Given the description of an element on the screen output the (x, y) to click on. 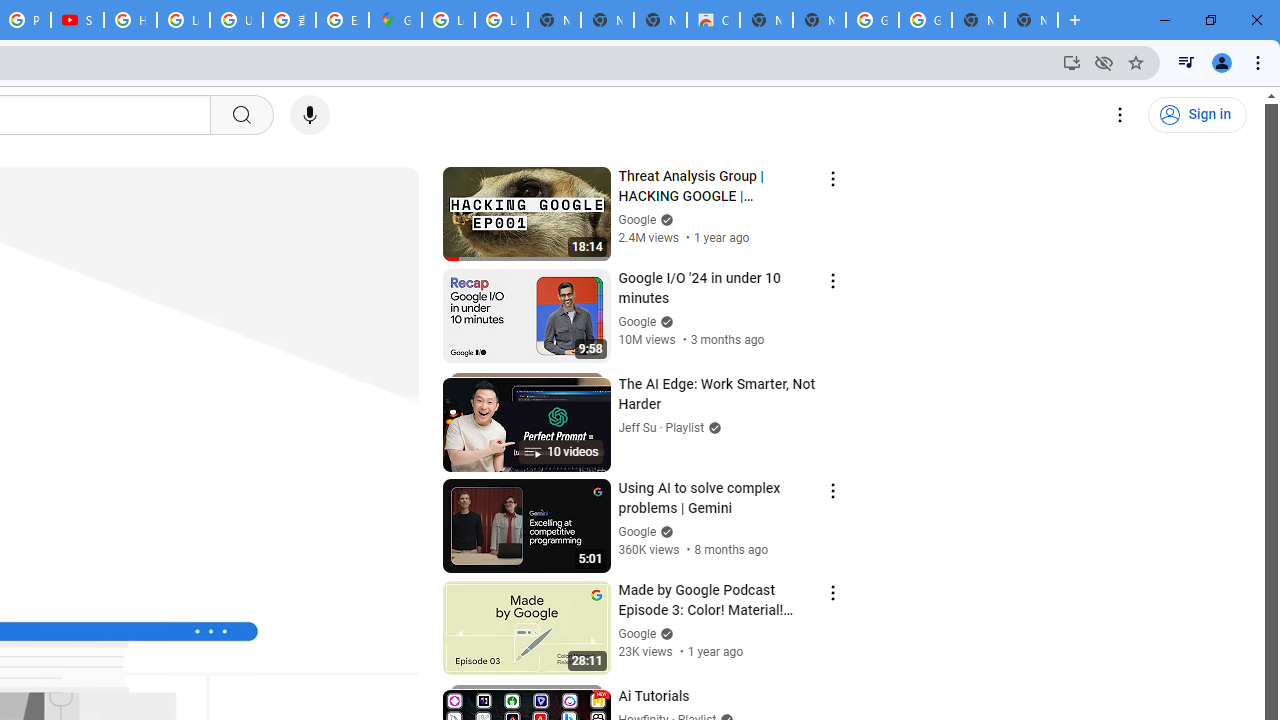
Google Maps (395, 20)
Google Images (872, 20)
Search with your voice (309, 115)
Chrome Web Store (713, 20)
